Given the description of an element on the screen output the (x, y) to click on. 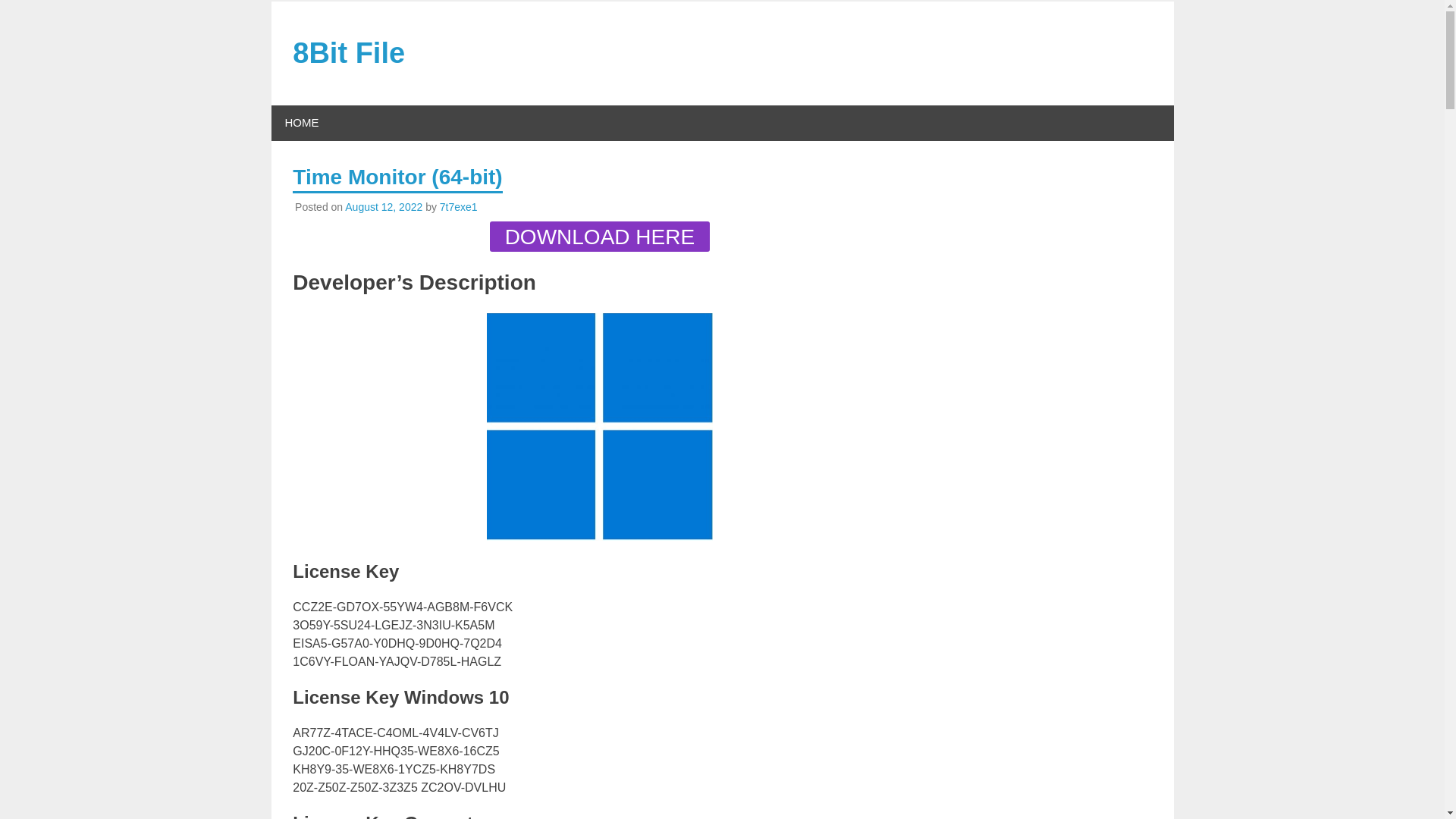
DOWNLOAD HERE (599, 236)
View all posts by 7t7exe1 (458, 206)
August 12, 2022 (383, 206)
8Bit File (348, 52)
HOME (301, 122)
7t7exe1 (458, 206)
9:28 am (383, 206)
